Given the description of an element on the screen output the (x, y) to click on. 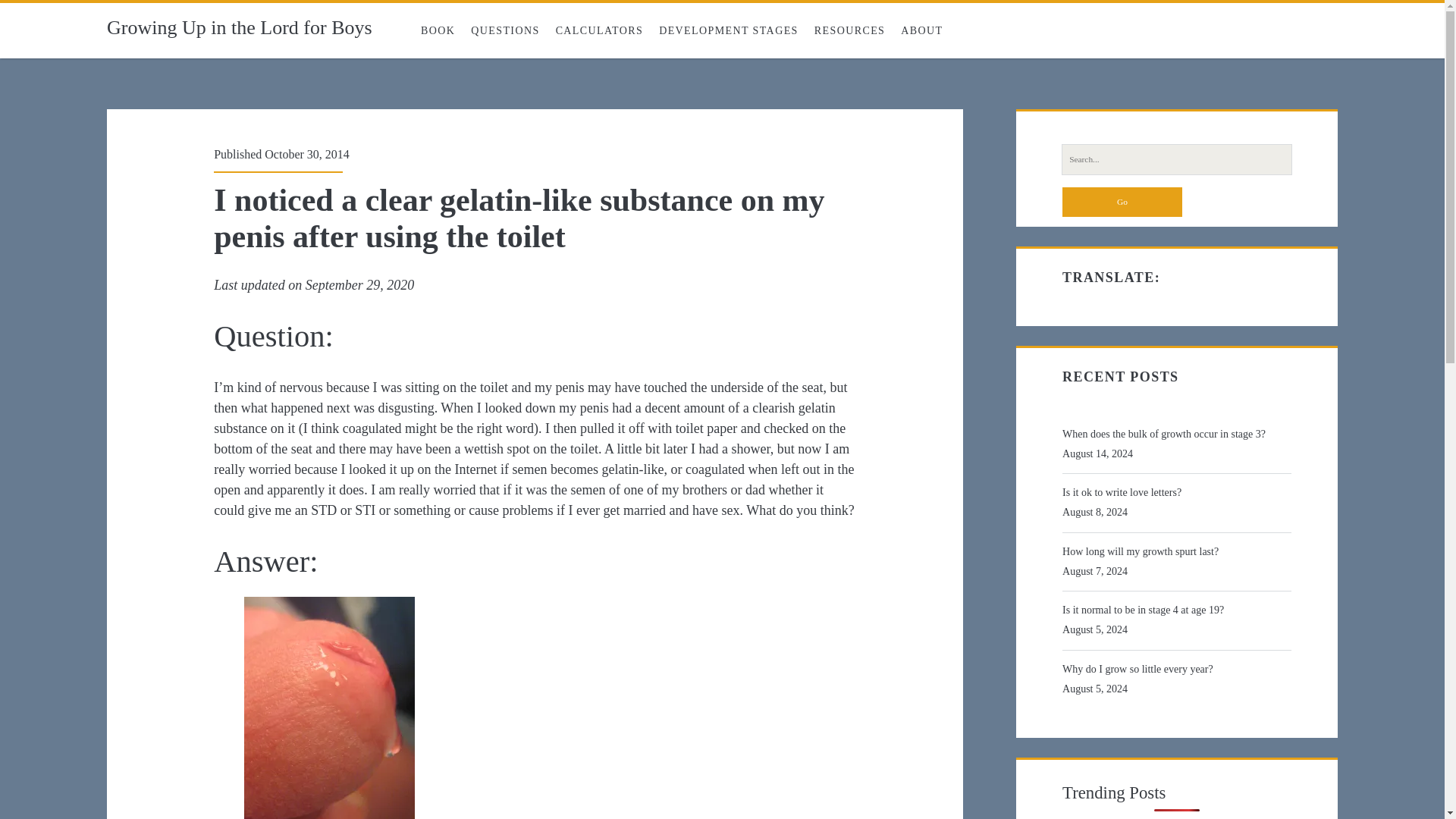
Growing Up in the Lord for Boys (239, 27)
Is it ok to write love letters? (1173, 492)
Search for: (1176, 159)
QUESTIONS (505, 30)
CALCULATORS (598, 30)
Why do I grow so little every year? (1173, 669)
Go (1122, 202)
BOOK (437, 30)
DEVELOPMENT STAGES (728, 30)
When does the bulk of growth occur in stage 3? (1173, 434)
